Given the description of an element on the screen output the (x, y) to click on. 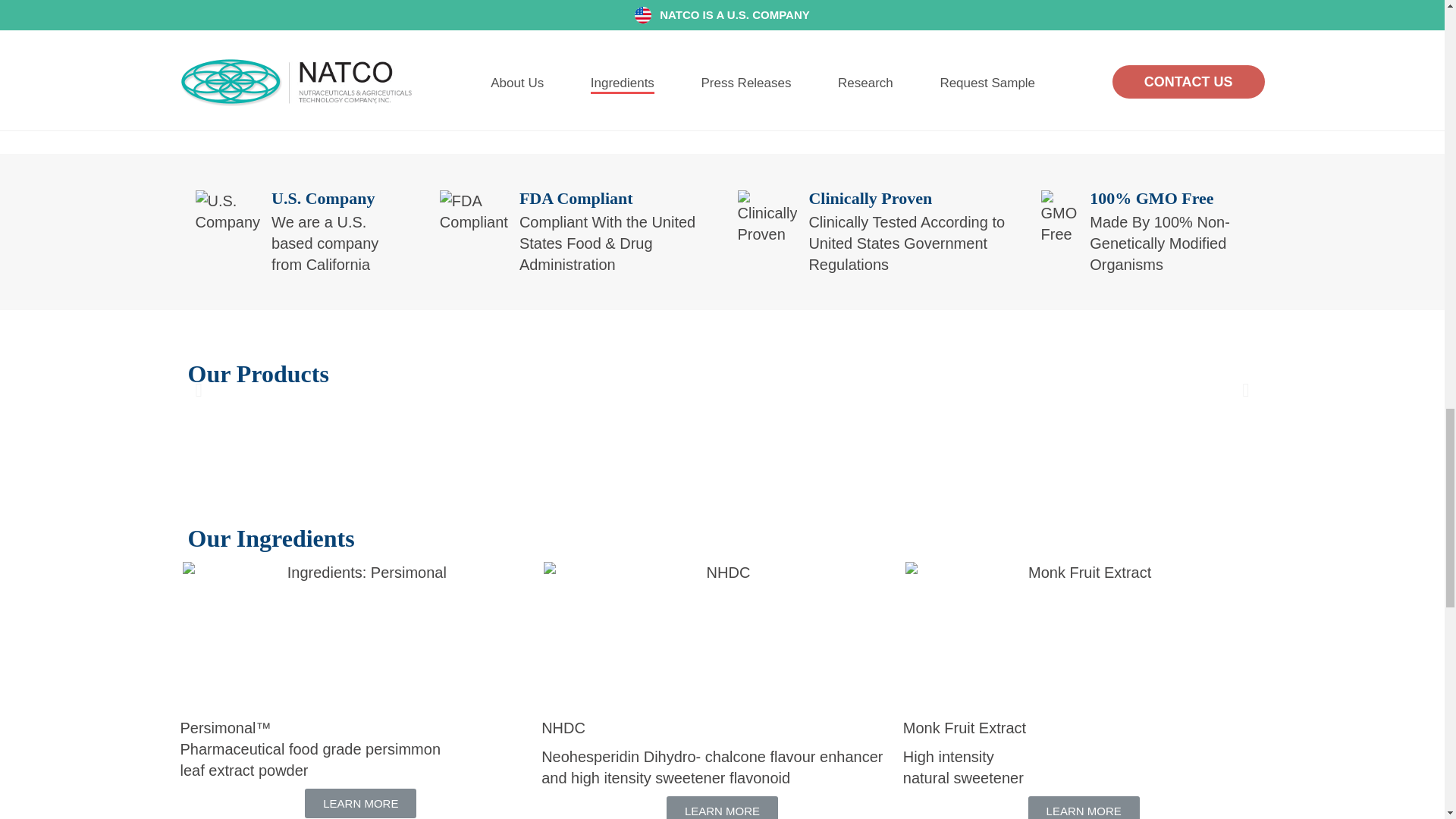
LEARN MORE (721, 807)
LEARN MORE (360, 803)
LEARN MORE (1083, 807)
